Given the description of an element on the screen output the (x, y) to click on. 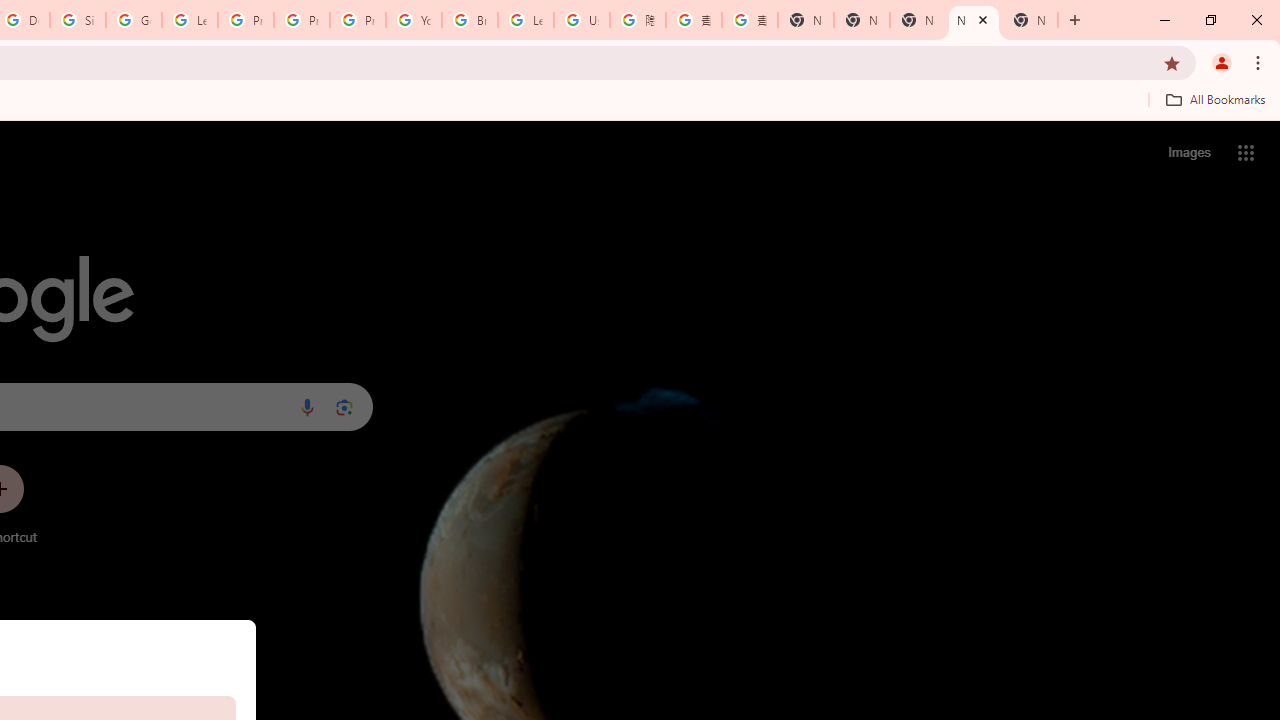
Privacy Help Center - Policies Help (301, 20)
New Tab (806, 20)
Sign in - Google Accounts (77, 20)
New Tab (1030, 20)
